Given the description of an element on the screen output the (x, y) to click on. 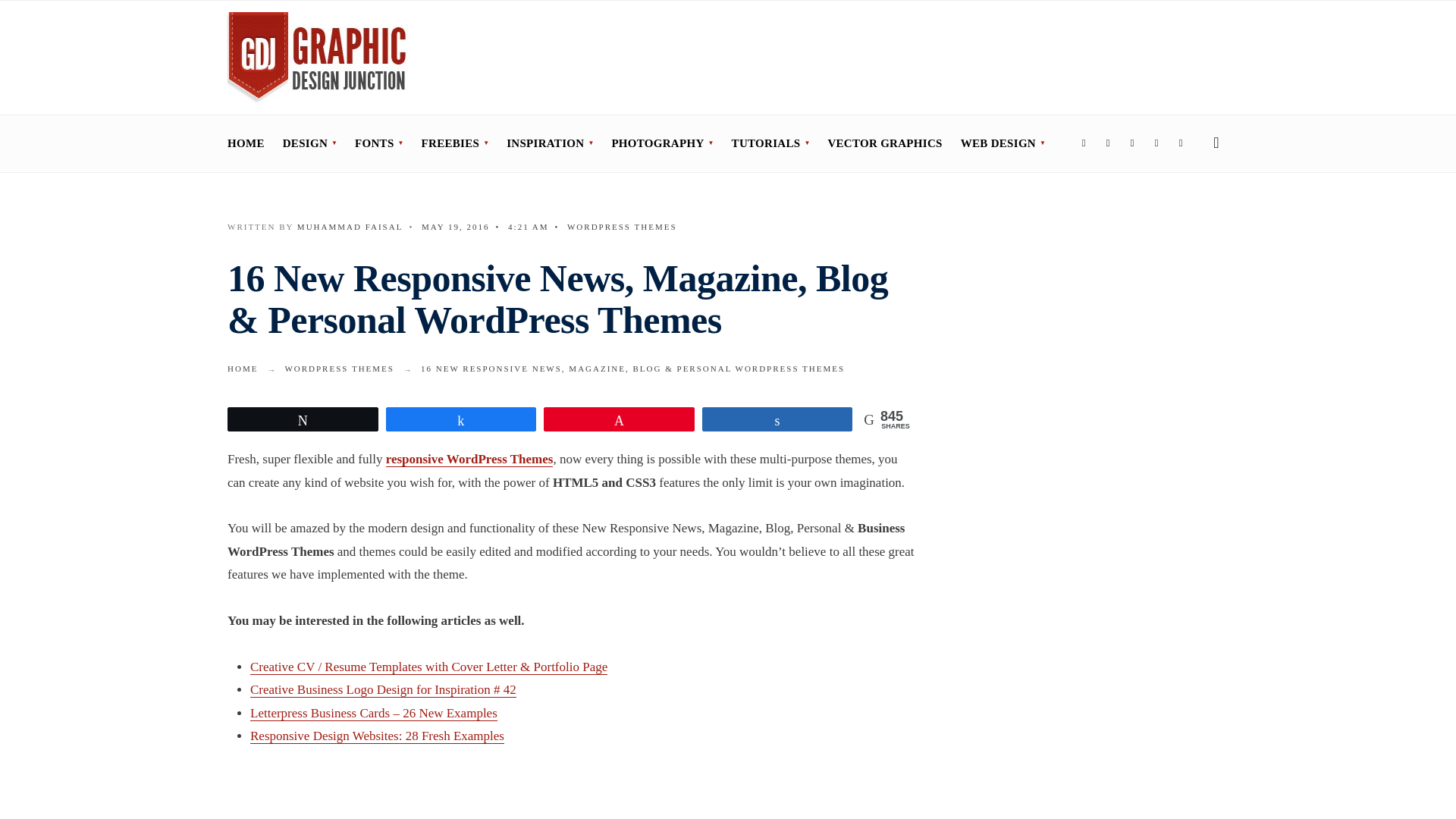
INSPIRATION (549, 143)
FONTS (379, 143)
FREEBIES (455, 143)
Pinterest (1156, 143)
WEB DESIGN (1002, 143)
PHOTOGRAPHY (662, 143)
Posts by Muhammad Faisal (350, 225)
Instagram (1131, 143)
Twitter (1107, 143)
TUTORIALS (770, 143)
HOME (245, 143)
Dribbble (1180, 143)
DESIGN (309, 143)
Facebook (1083, 143)
VECTOR GRAPHICS (884, 143)
